Given the description of an element on the screen output the (x, y) to click on. 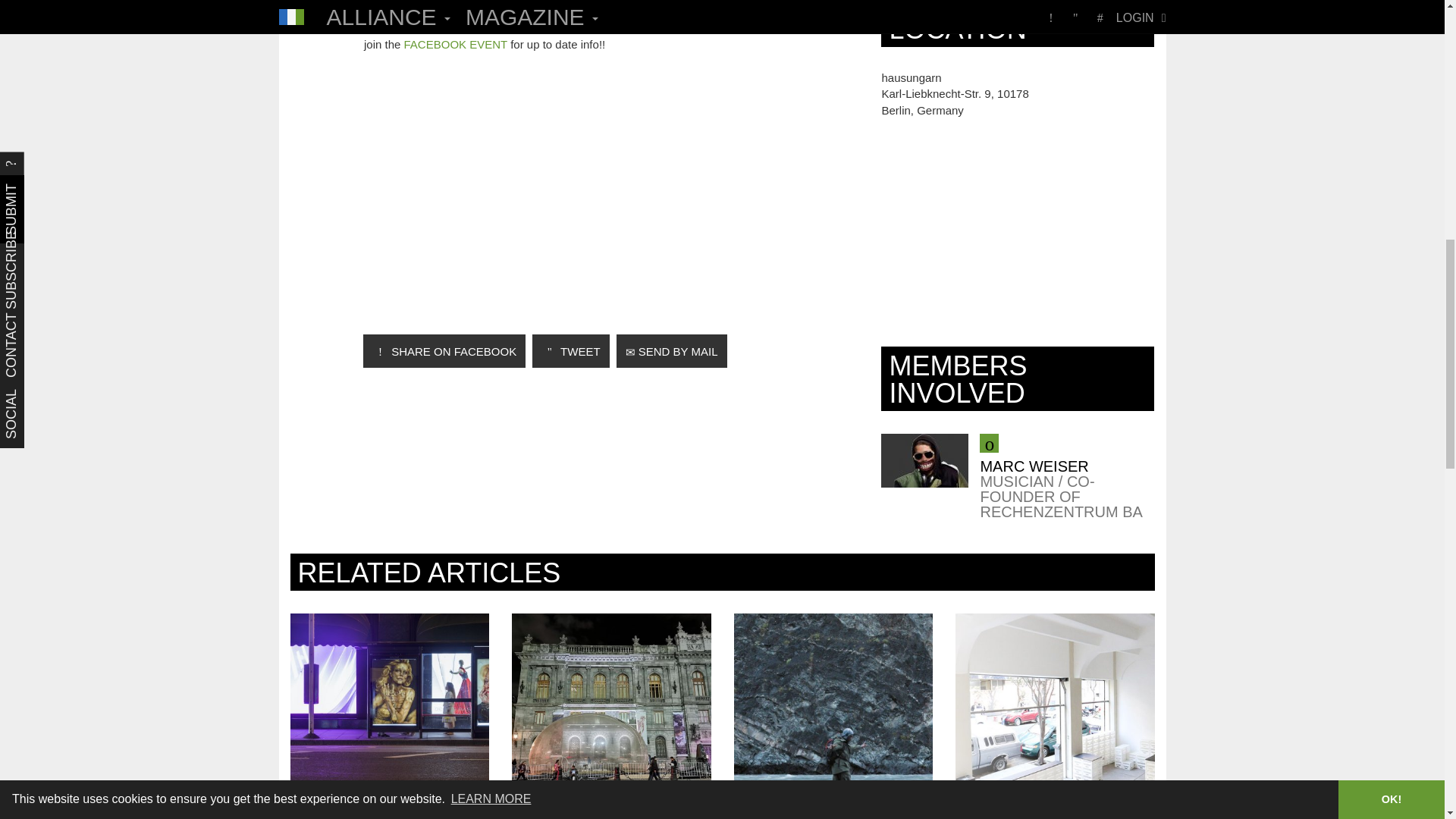
FACEBOOK EVENT (455, 43)
 SHARE ON FACEBOOK (443, 350)
 SEND BY MAIL (670, 350)
 TWEET (570, 350)
